Given the description of an element on the screen output the (x, y) to click on. 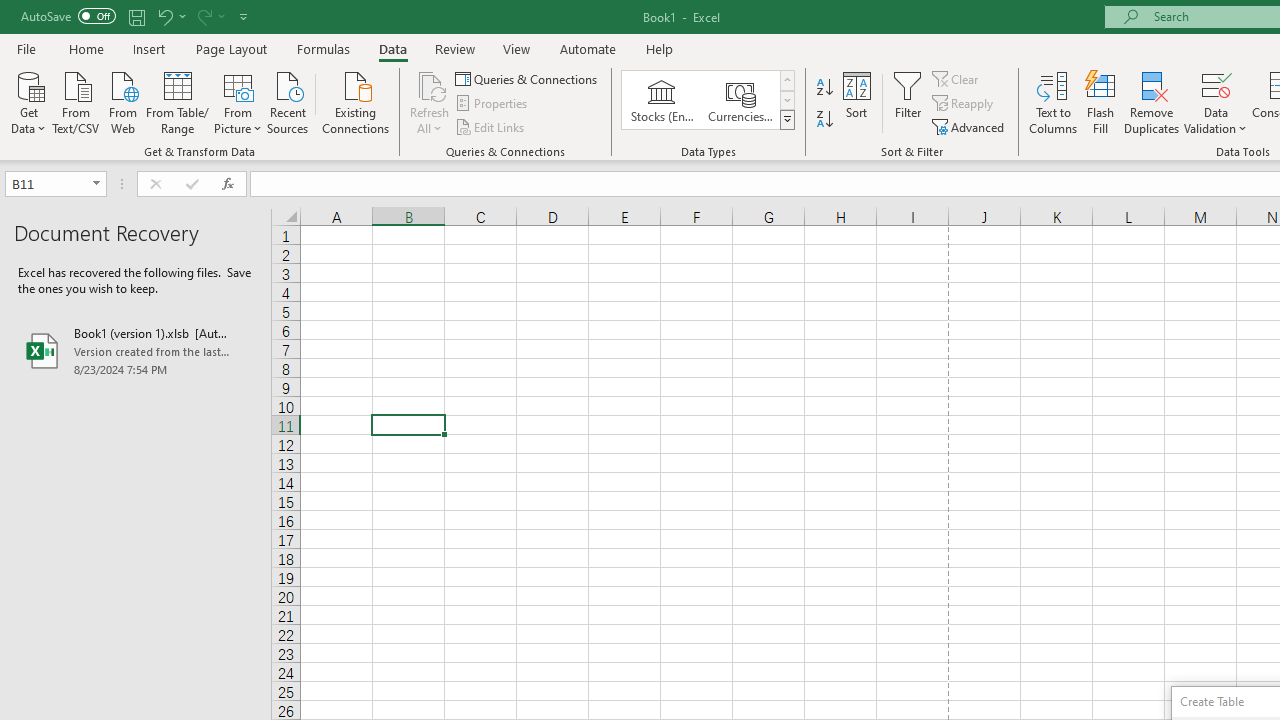
Recent Sources (287, 101)
Customize Quick Access Toolbar (244, 15)
From Text/CSV (75, 101)
Data (392, 48)
Sort Z to A (824, 119)
Advanced... (970, 126)
Stocks (English) (662, 100)
Save (136, 15)
Open (96, 183)
